Given the description of an element on the screen output the (x, y) to click on. 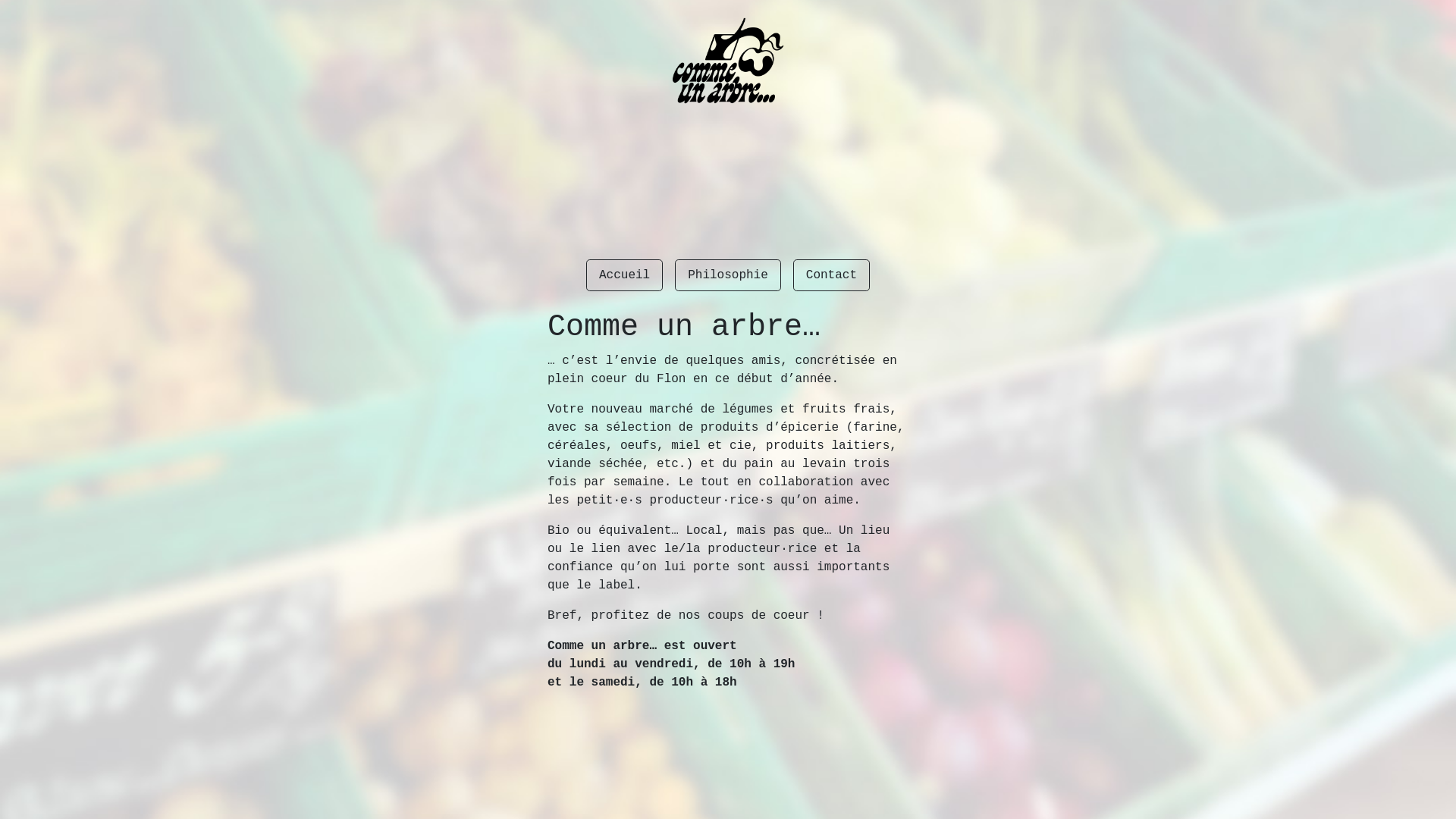
Accueil Element type: text (624, 275)
Contact Element type: text (831, 275)
Philosophie Element type: text (727, 275)
